Given the description of an element on the screen output the (x, y) to click on. 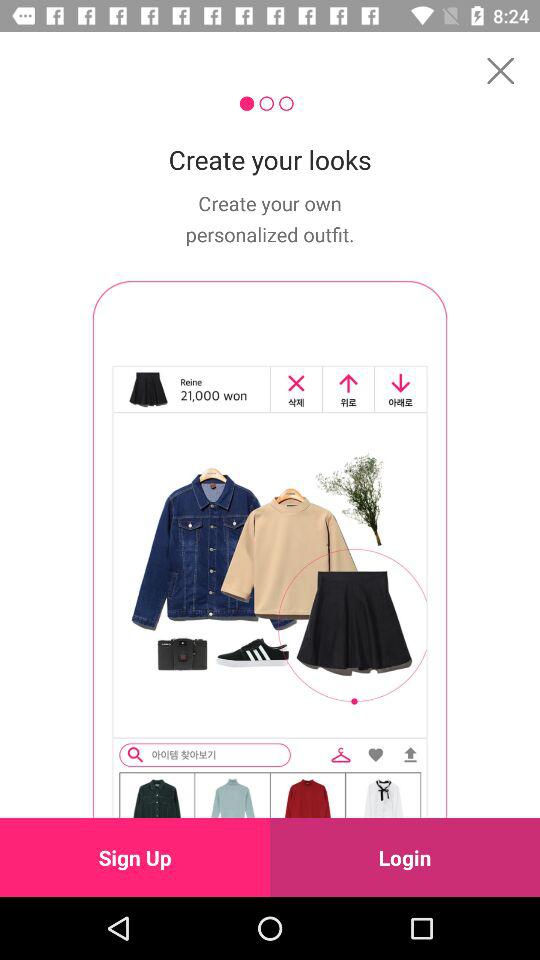
turn on the icon next to login icon (135, 857)
